Given the description of an element on the screen output the (x, y) to click on. 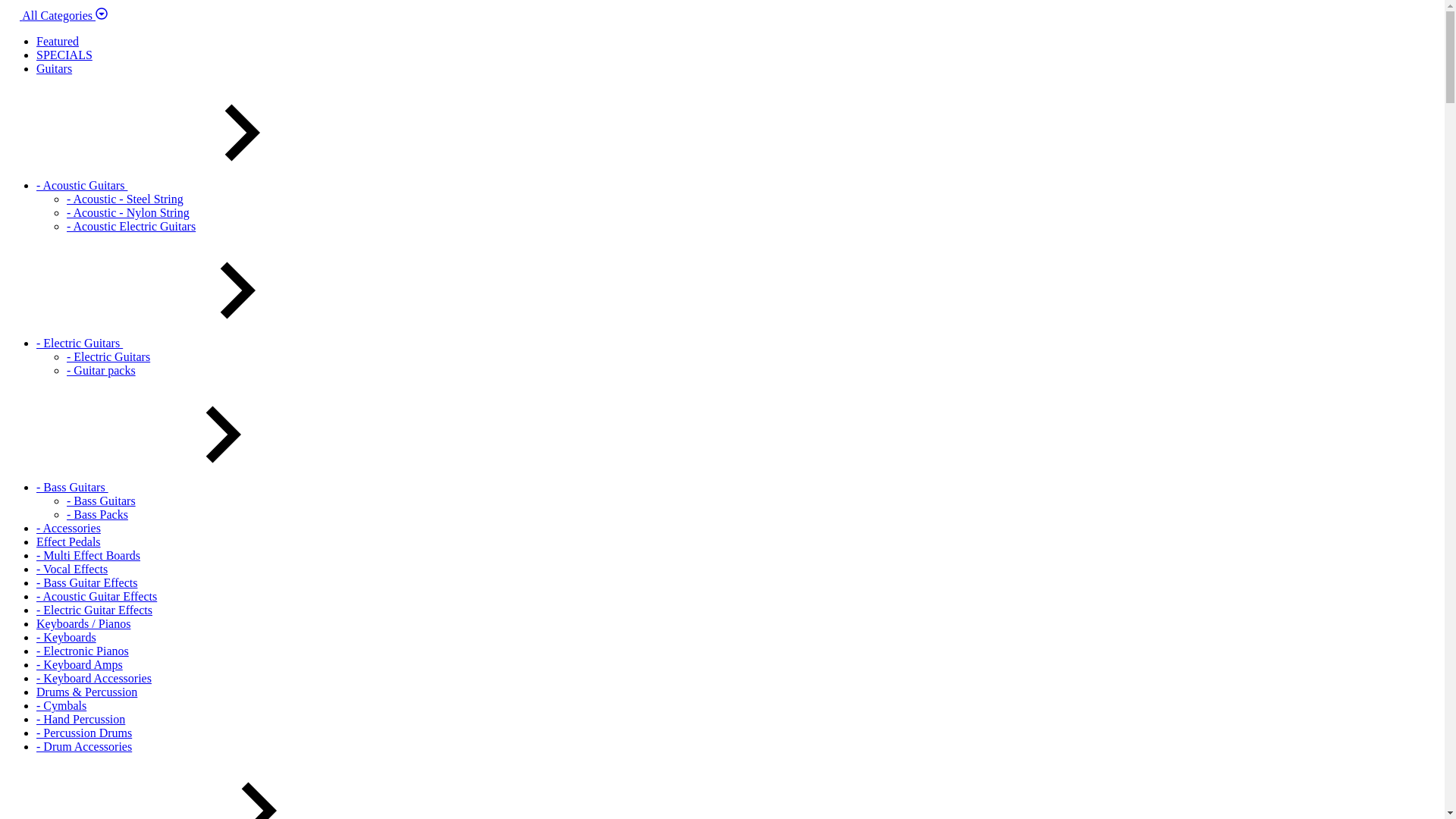
- Acoustic Electric Guitars Element type: text (130, 225)
- Keyboards Element type: text (66, 636)
- Bass Guitars Element type: text (100, 500)
- Acoustic Guitar Effects Element type: text (96, 595)
- Percussion Drums Element type: text (83, 732)
- Keyboard Amps Element type: text (79, 664)
- Acoustic Guitars Element type: text (195, 184)
- Electric Guitars Element type: text (193, 342)
Guitars Element type: text (54, 68)
Effect Pedals Element type: text (68, 541)
Featured Element type: text (57, 40)
- Cymbals Element type: text (61, 705)
- Keyboard Accessories Element type: text (93, 677)
- Vocal Effects Element type: text (71, 568)
- Accessories Element type: text (68, 527)
- Drum Accessories Element type: text (83, 746)
- Multi Effect Boards Element type: text (88, 555)
- Bass Guitar Effects Element type: text (86, 582)
All Categories Element type: text (56, 15)
- Hand Percussion Element type: text (80, 718)
Keyboards / Pianos Element type: text (83, 623)
SPECIALS Element type: text (64, 54)
Drums & Percussion Element type: text (86, 691)
- Acoustic - Nylon String Element type: text (127, 212)
- Bass Packs Element type: text (97, 514)
- Electric Guitar Effects Element type: text (94, 609)
- Electronic Pianos Element type: text (82, 650)
- Electric Guitars Element type: text (108, 356)
- Acoustic - Steel String Element type: text (124, 198)
- Guitar packs Element type: text (100, 370)
- Bass Guitars Element type: text (185, 486)
